Given the description of an element on the screen output the (x, y) to click on. 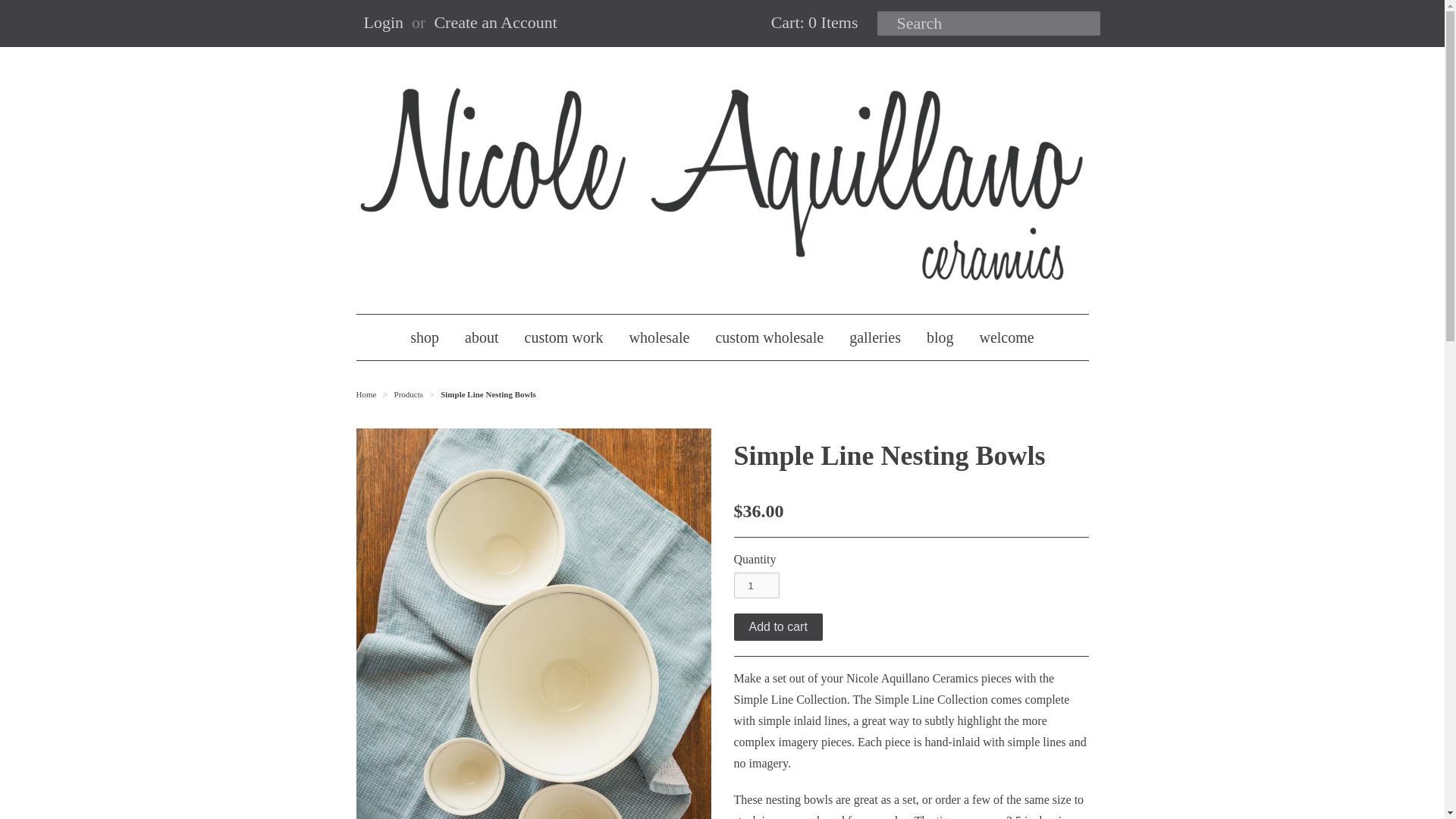
Cart (813, 22)
1 (755, 585)
Create an Account (495, 22)
blog (940, 337)
about (480, 337)
Cart: 0 Items (813, 22)
galleries (875, 337)
custom work (563, 337)
wholesale (658, 337)
Login (384, 22)
welcome (1006, 337)
Add to cart (777, 626)
Nicole Aquillano Ceramics (366, 393)
shop (423, 337)
custom wholesale (768, 337)
